Given the description of an element on the screen output the (x, y) to click on. 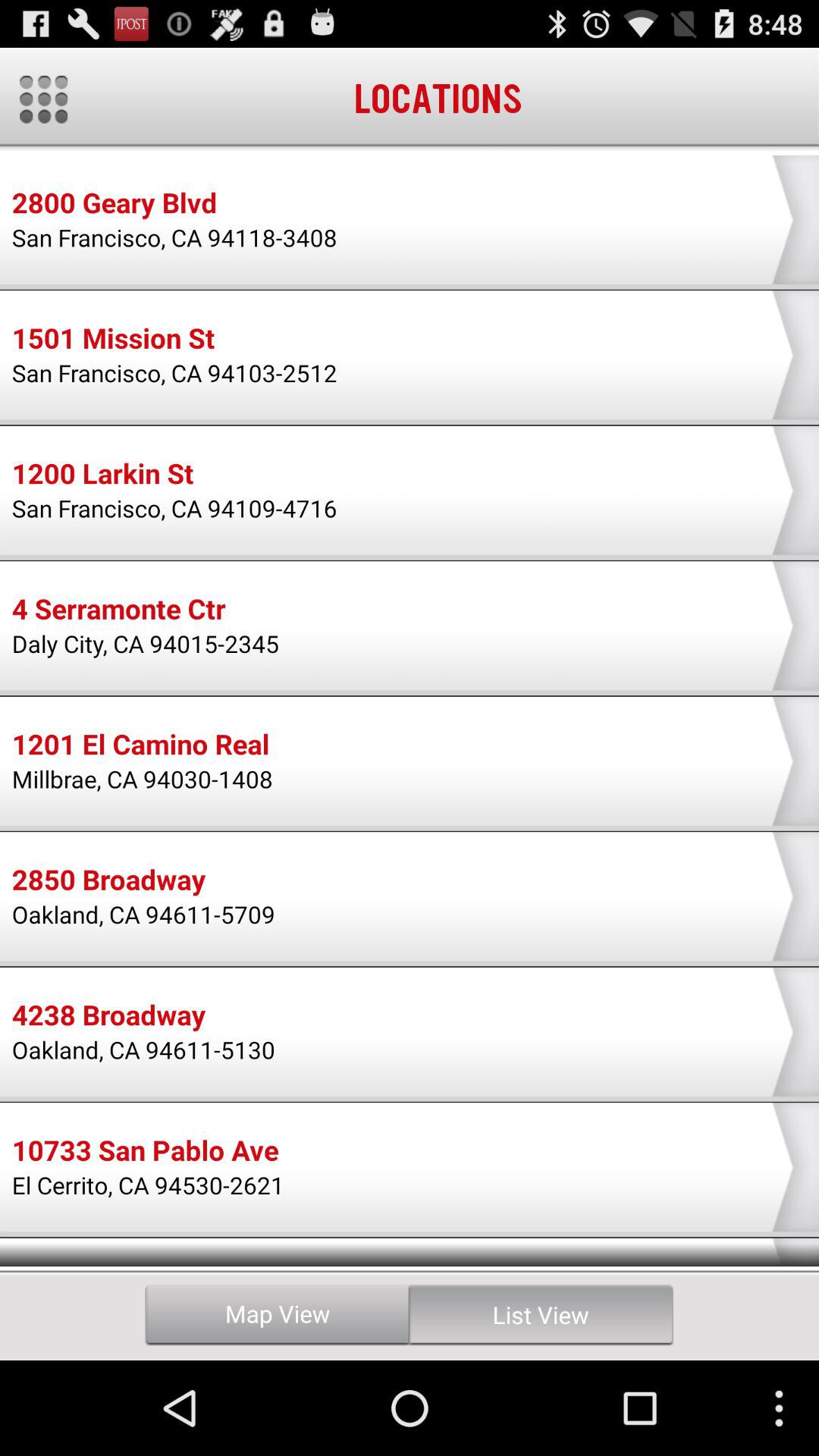
turn on app above the millbrae ca 94030 icon (140, 746)
